Given the description of an element on the screen output the (x, y) to click on. 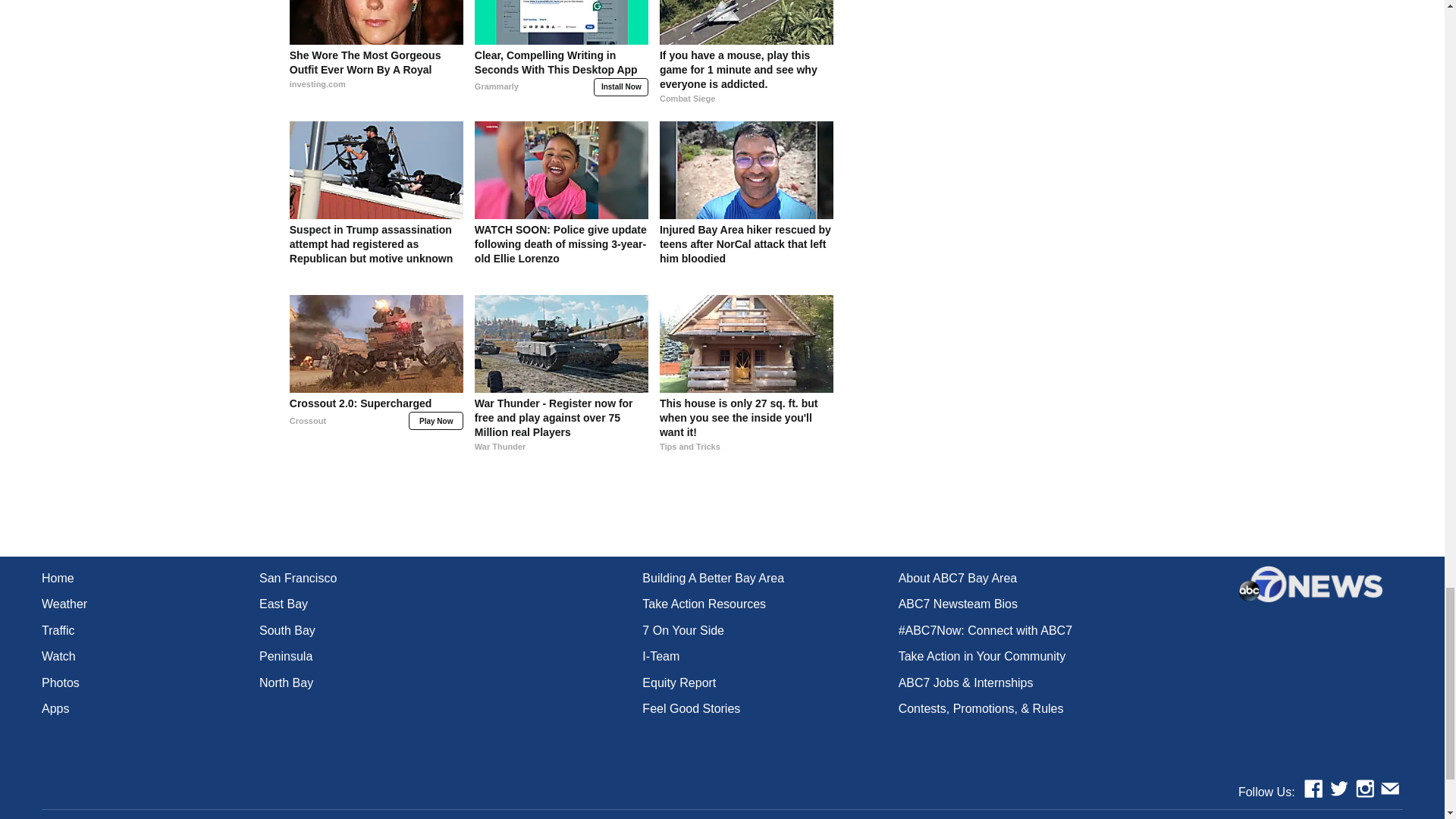
She Wore The Most Gorgeous Outfit Ever Worn By A Royal (376, 77)
Clear, Compelling Writing in Seconds With This Desktop App (560, 77)
Crossout 2.0: Supercharged (376, 425)
